Given the description of an element on the screen output the (x, y) to click on. 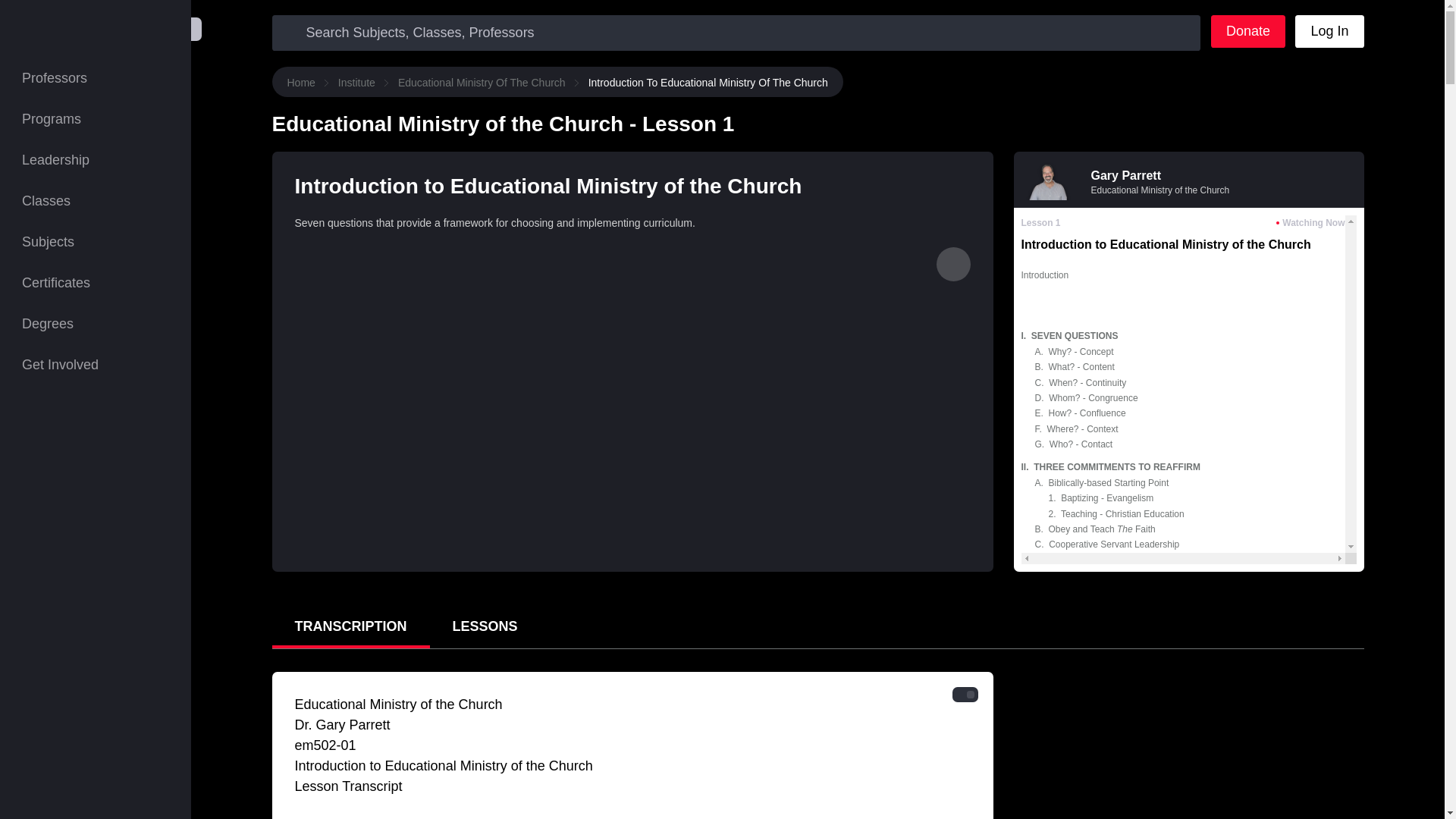
Professors (95, 77)
Subjects (95, 241)
Log In (1328, 31)
Certificates (95, 282)
Leadership (95, 159)
Donate (1248, 31)
Subjects (95, 241)
Degrees (95, 323)
Share Educational Ministry of the Church (952, 264)
